Given the description of an element on the screen output the (x, y) to click on. 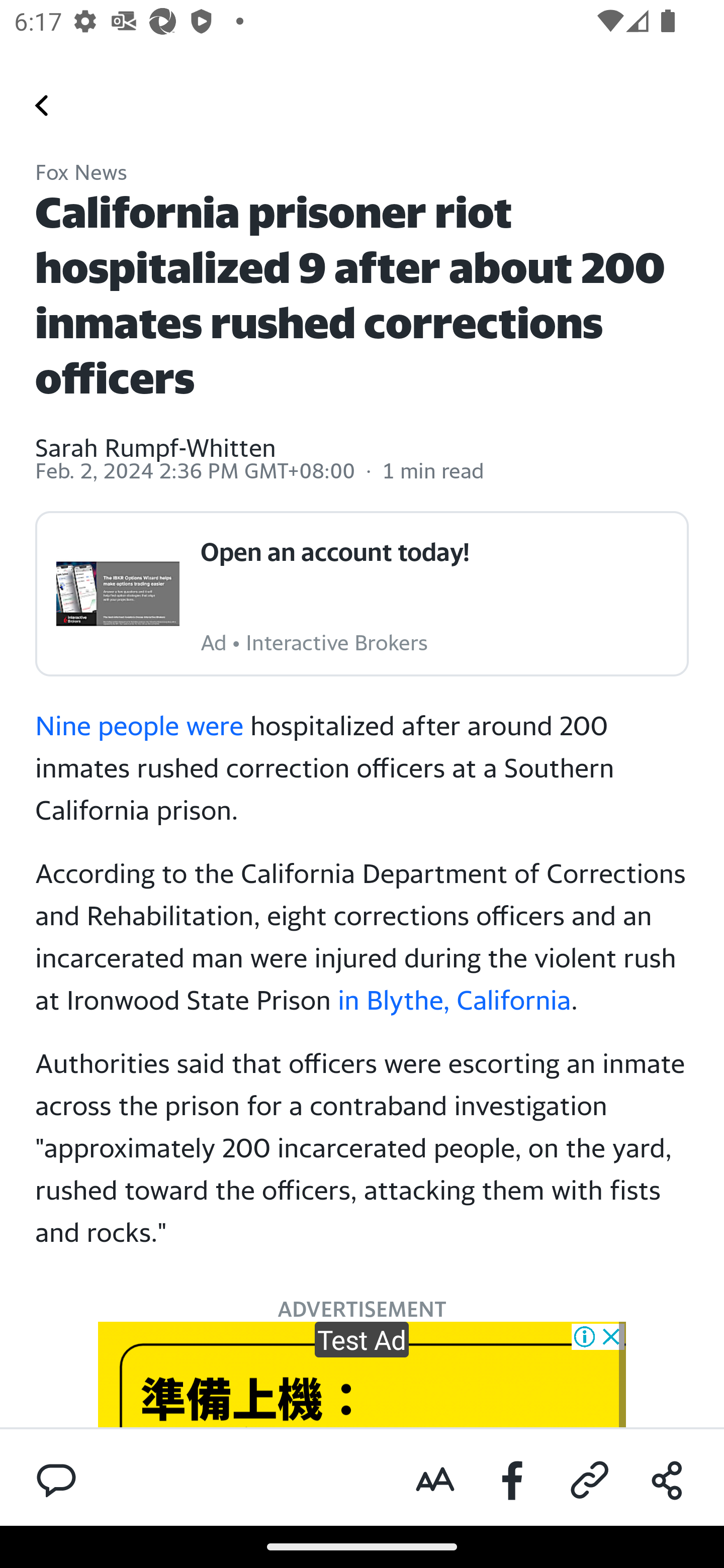
Back (41, 104)
Fox News (81, 174)
Nine people were (139, 724)
in Blythe, California (453, 999)
準備上機：‌   直飛新加坡！‌ 飛往‌ 新加坡‌ 單程票價‌ HKD‌ 7‌ 20‌ 起‌ *‌ (361, 1373)
View Comments (56, 1479)
Font size (435, 1480)
Share link on Facebook (512, 1480)
Copy link (590, 1480)
Share article (667, 1480)
